Given the description of an element on the screen output the (x, y) to click on. 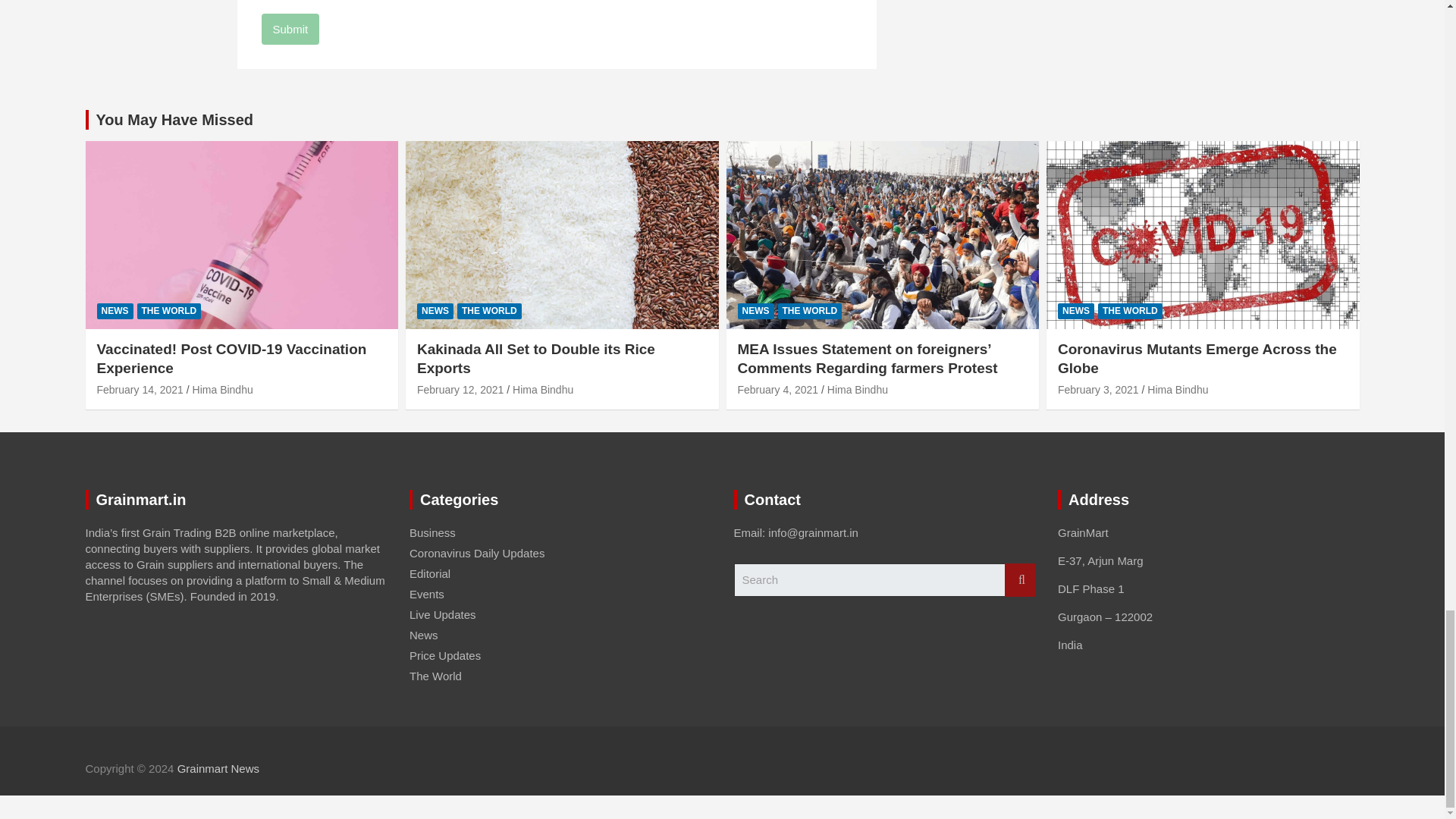
Coronavirus Mutants Emerge Across the Globe (1098, 389)
Kakinada All Set to Double its Rice Exports (459, 389)
Vaccinated! Post COVID-19 Vaccination Experience (140, 389)
